Given the description of an element on the screen output the (x, y) to click on. 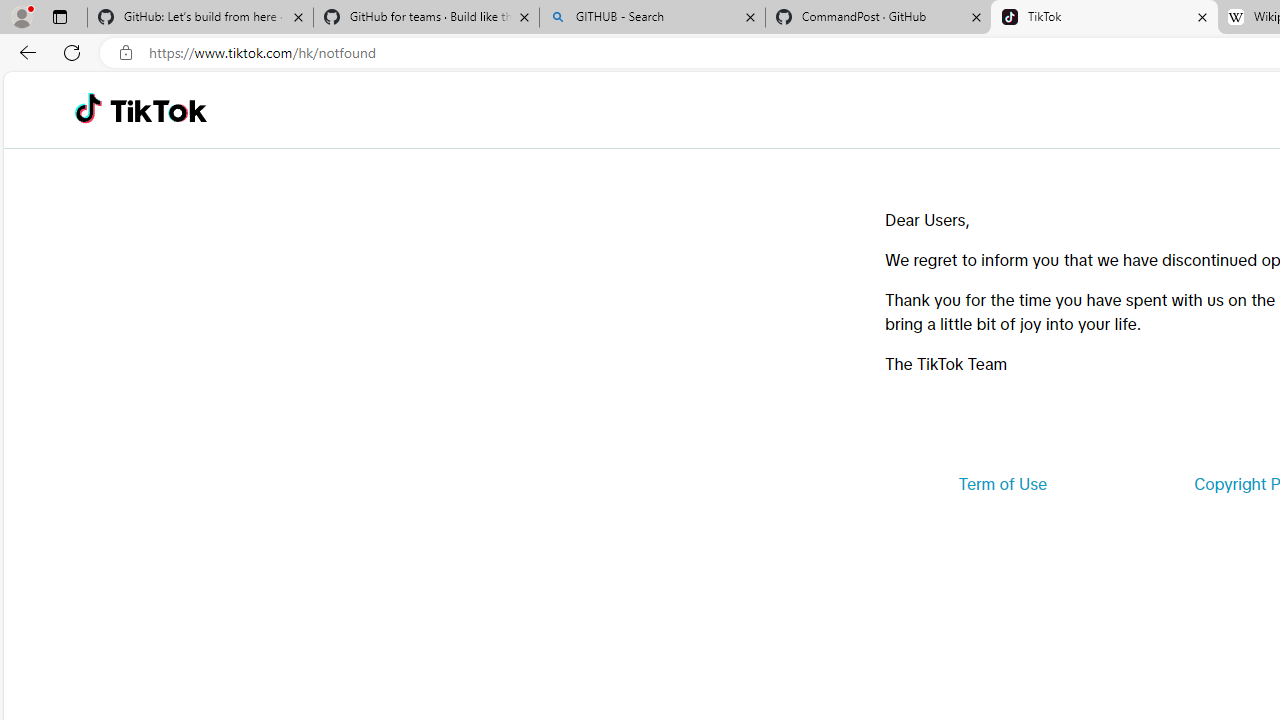
TikTok (1104, 17)
TikTok (158, 110)
GITHUB - Search (652, 17)
Term of Use (1002, 484)
